Given the description of an element on the screen output the (x, y) to click on. 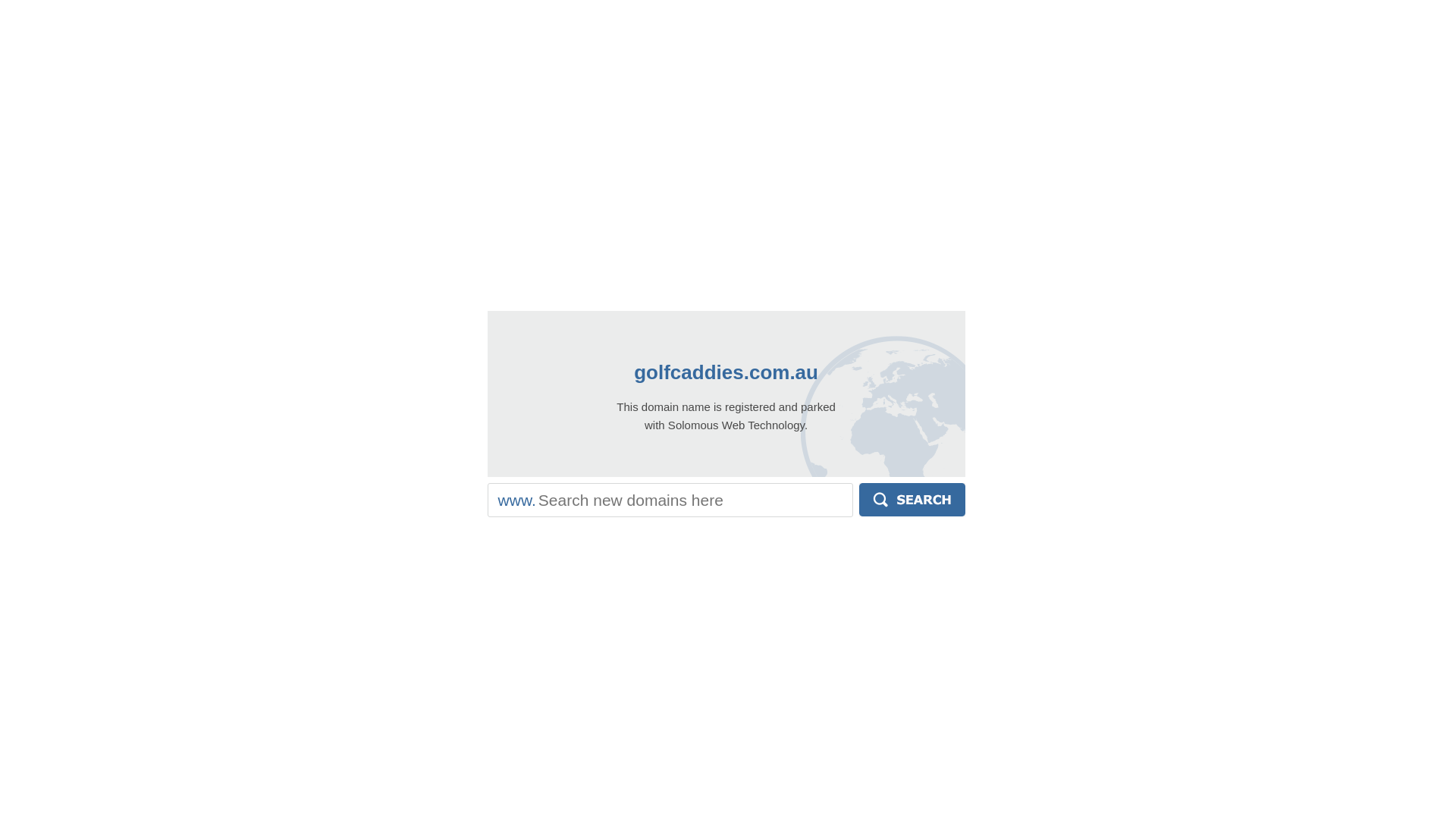
Search Element type: text (912, 499)
